Given the description of an element on the screen output the (x, y) to click on. 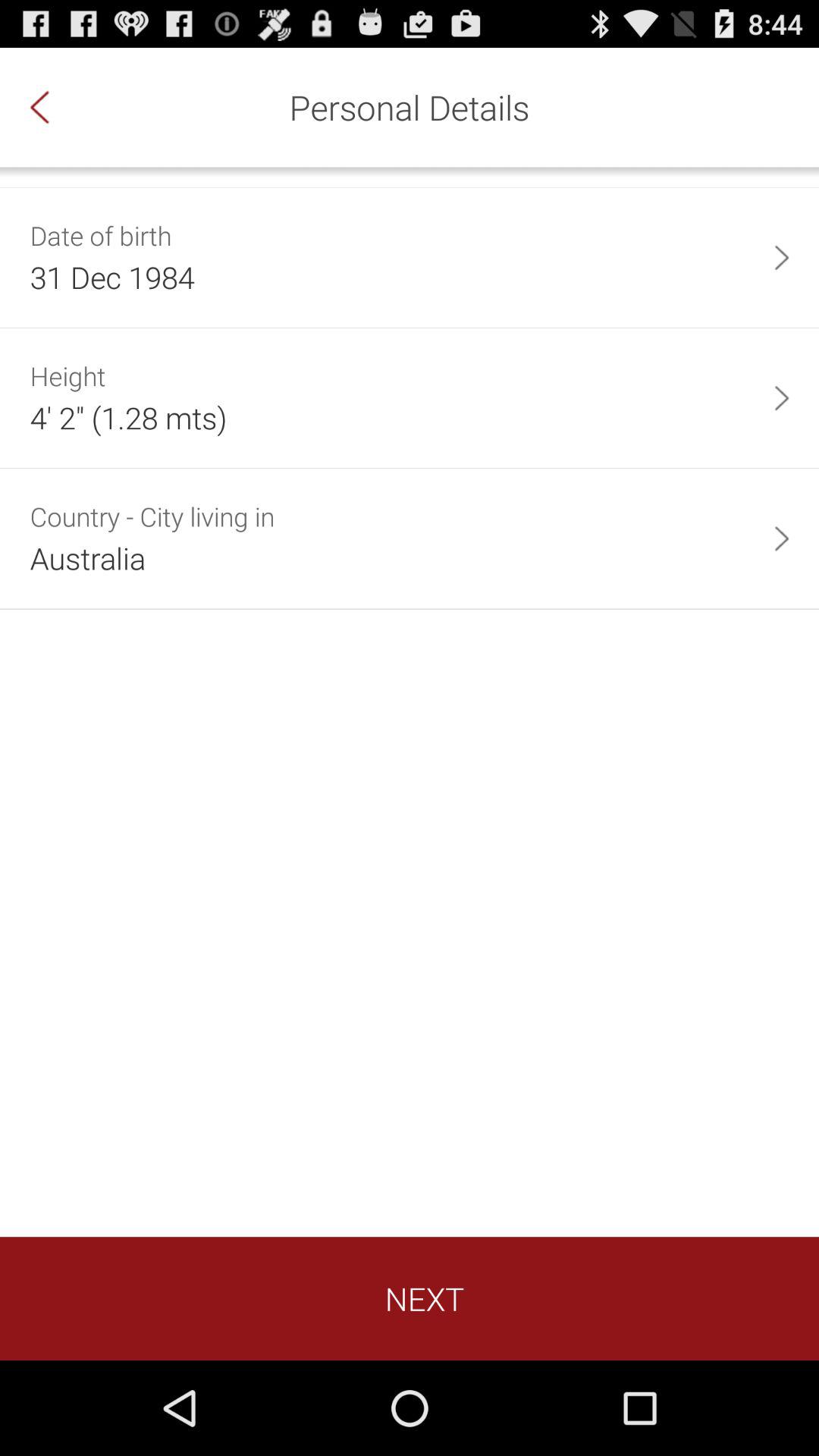
click the app next to country city living app (781, 538)
